Given the description of an element on the screen output the (x, y) to click on. 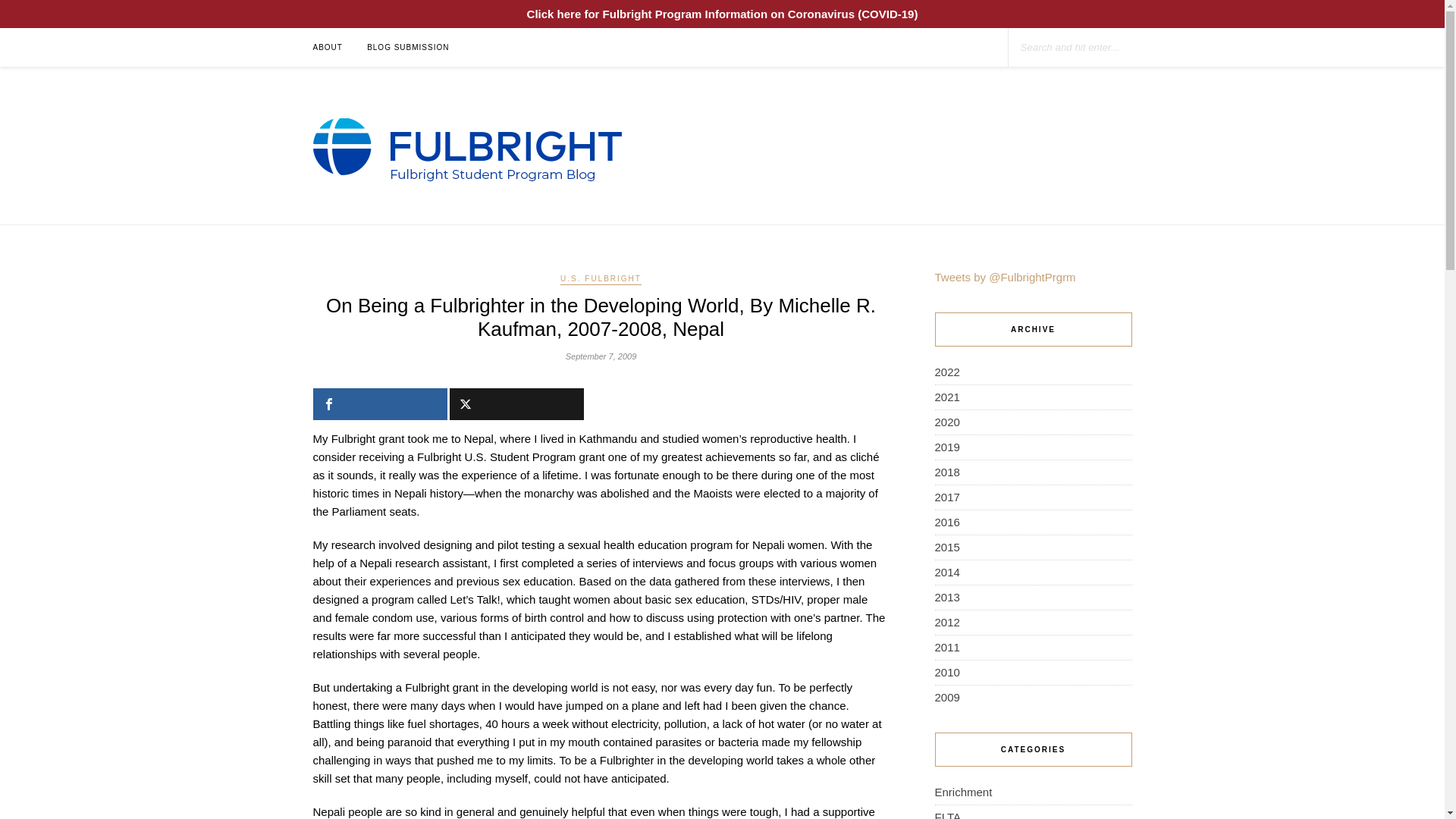
2019 (946, 446)
View all posts in U.S. Fulbright (601, 279)
BLOG SUBMISSION (407, 46)
U.S. FULBRIGHT (601, 279)
2020 (946, 421)
2022 (946, 371)
Facebook (379, 404)
2018 (946, 472)
2017 (946, 496)
2021 (946, 396)
